Given the description of an element on the screen output the (x, y) to click on. 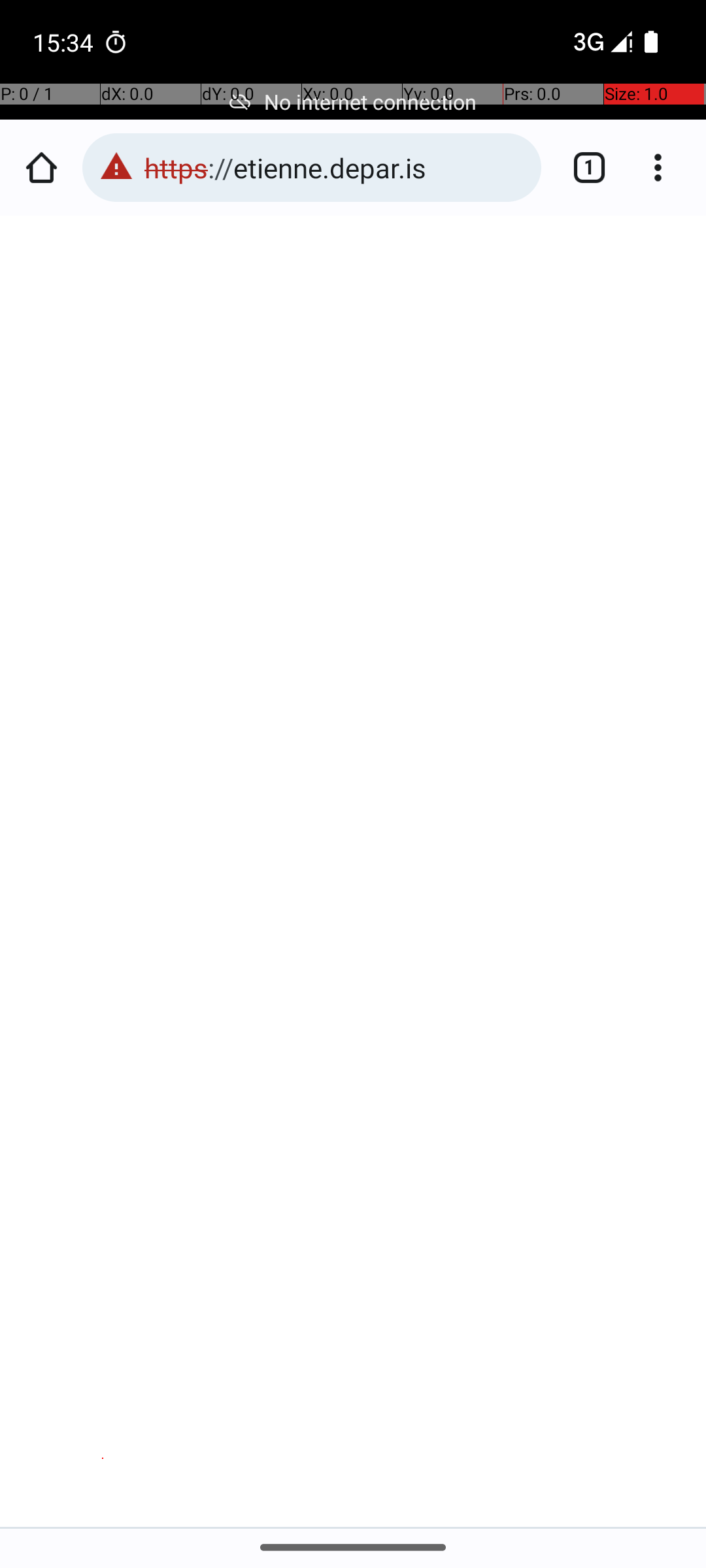
https://etienne.depar.is Element type: android.widget.EditText (335, 167)
etienne.depar.is Element type: android.widget.TextView (129, 684)
